Given the description of an element on the screen output the (x, y) to click on. 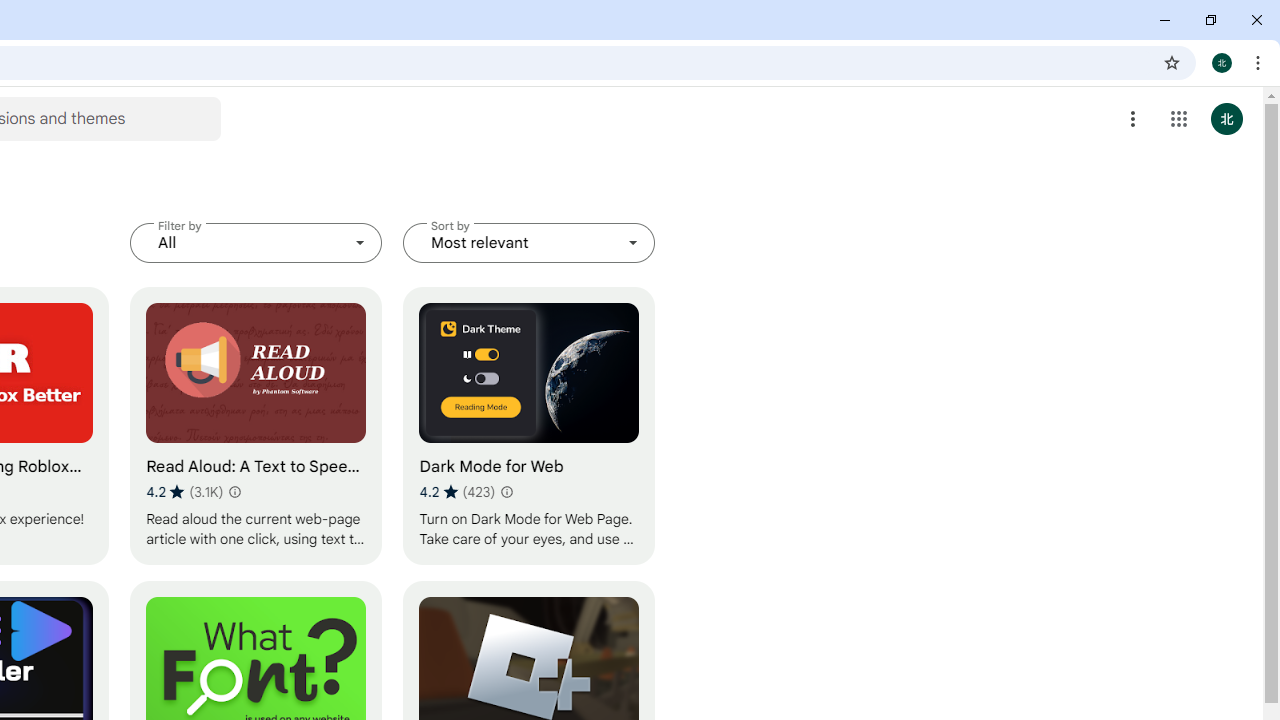
Dark Mode for Web (529, 426)
Average rating 4.2 out of 5 stars. 423 ratings. (457, 491)
More options menu (1133, 118)
